Given the description of an element on the screen output the (x, y) to click on. 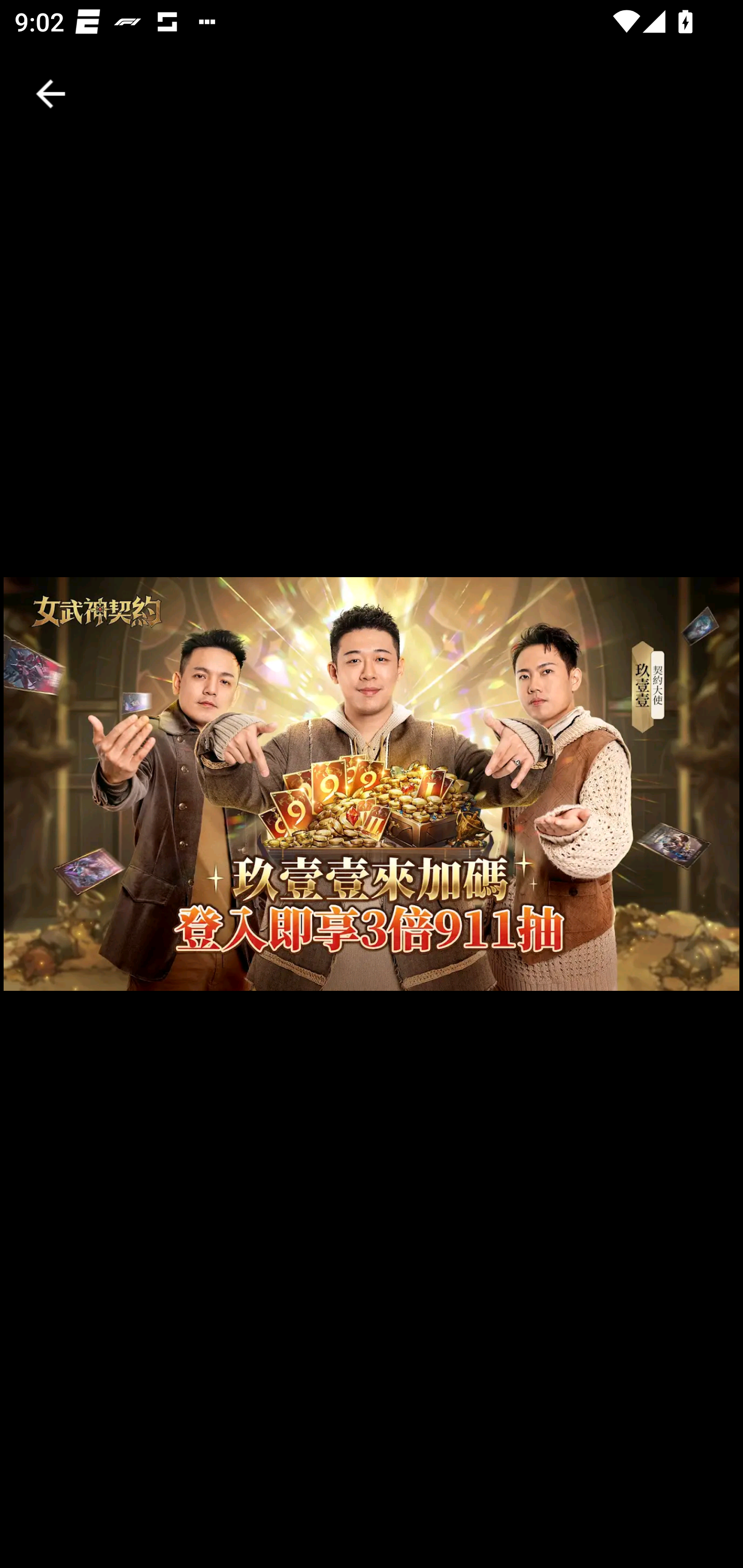
Back (50, 93)
